Given the description of an element on the screen output the (x, y) to click on. 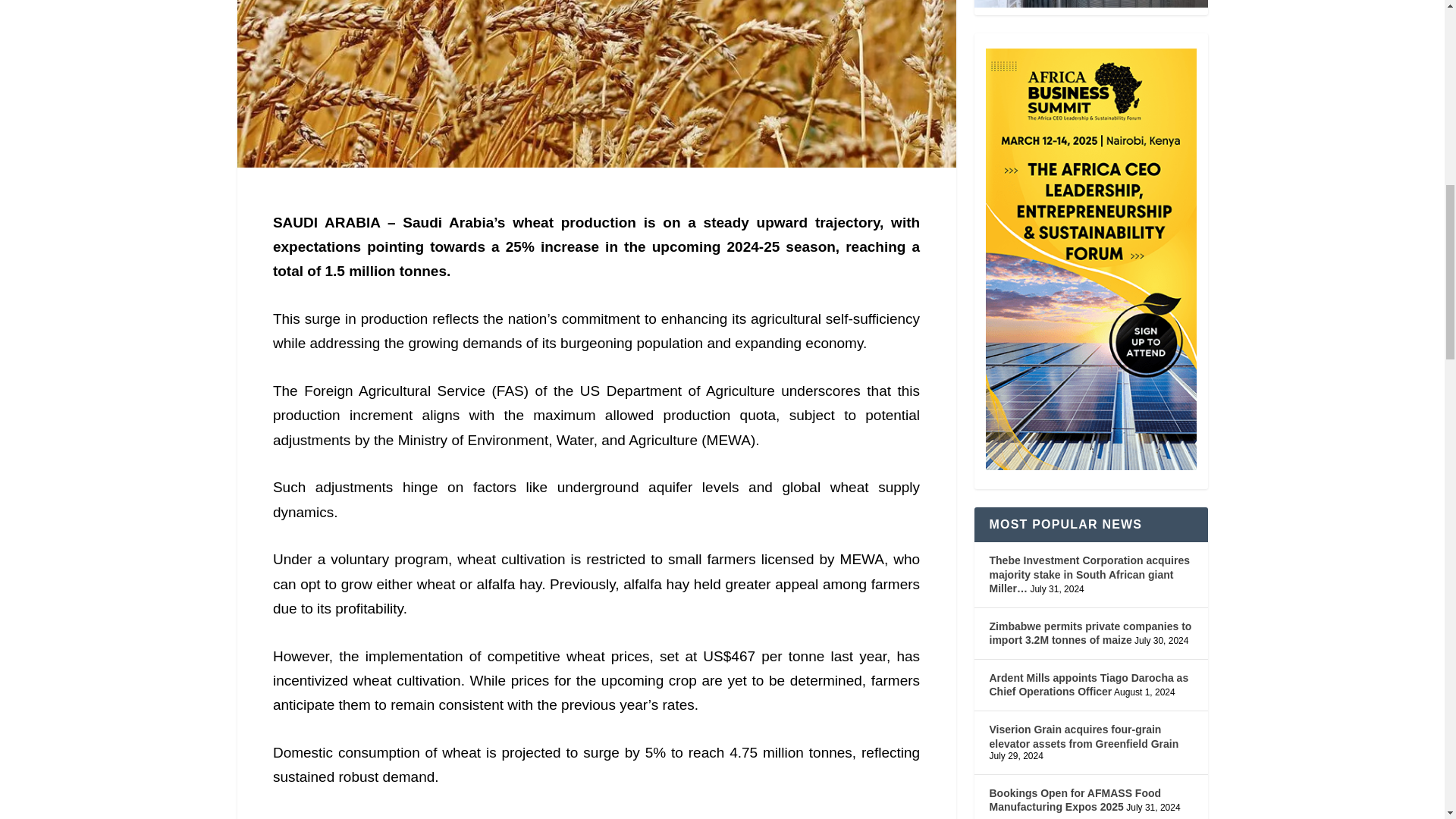
LATEST DIGITAL MAGAZINE (1090, 3)
